Given the description of an element on the screen output the (x, y) to click on. 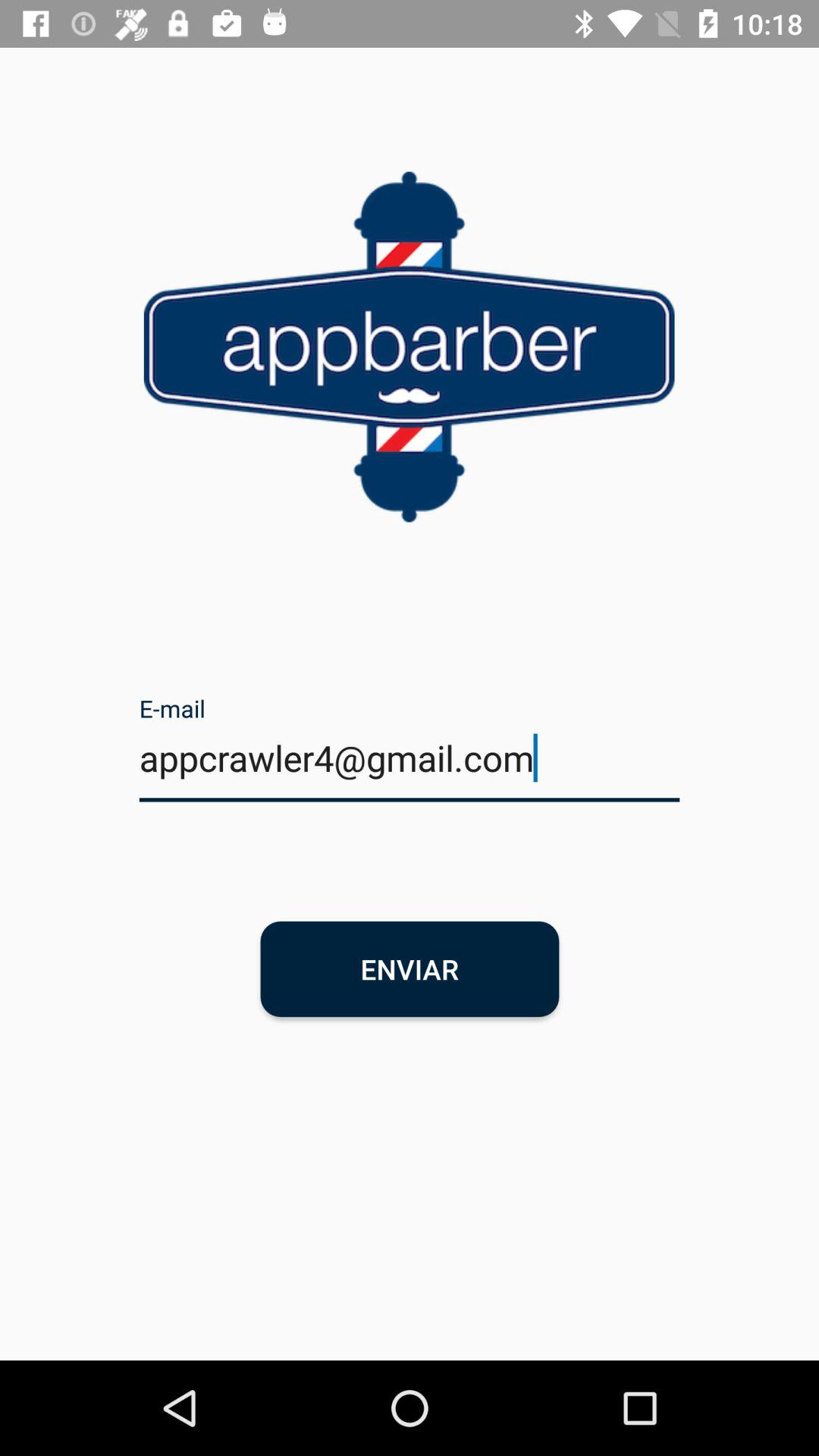
press the icon below the appcrawler4@gmail.com item (409, 968)
